Given the description of an element on the screen output the (x, y) to click on. 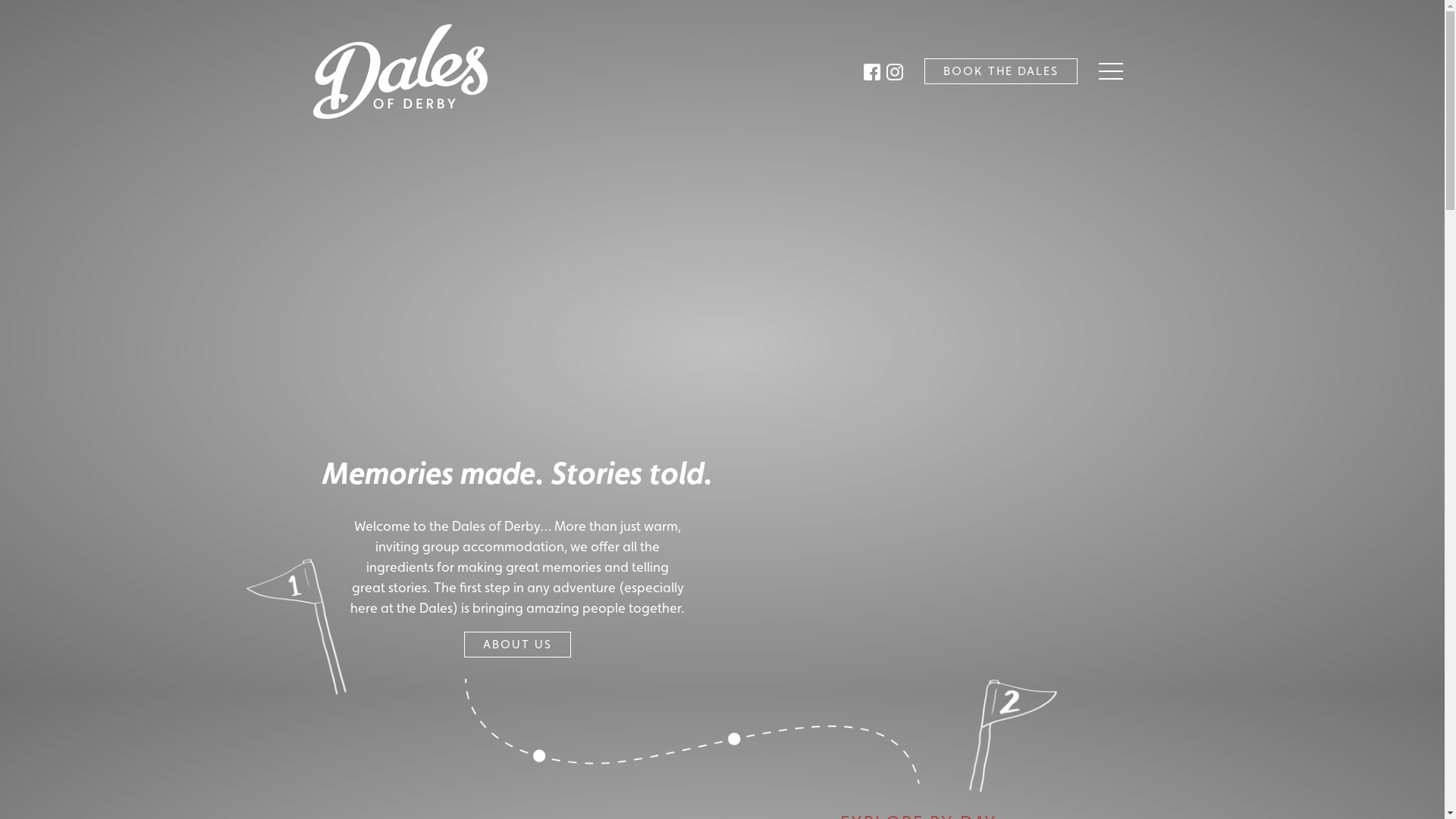
ABOUT US Element type: text (517, 644)
logo-white Element type: text (404, 71)
Menu Element type: text (1114, 70)
BOOK THE DALES Element type: text (999, 71)
